Given the description of an element on the screen output the (x, y) to click on. 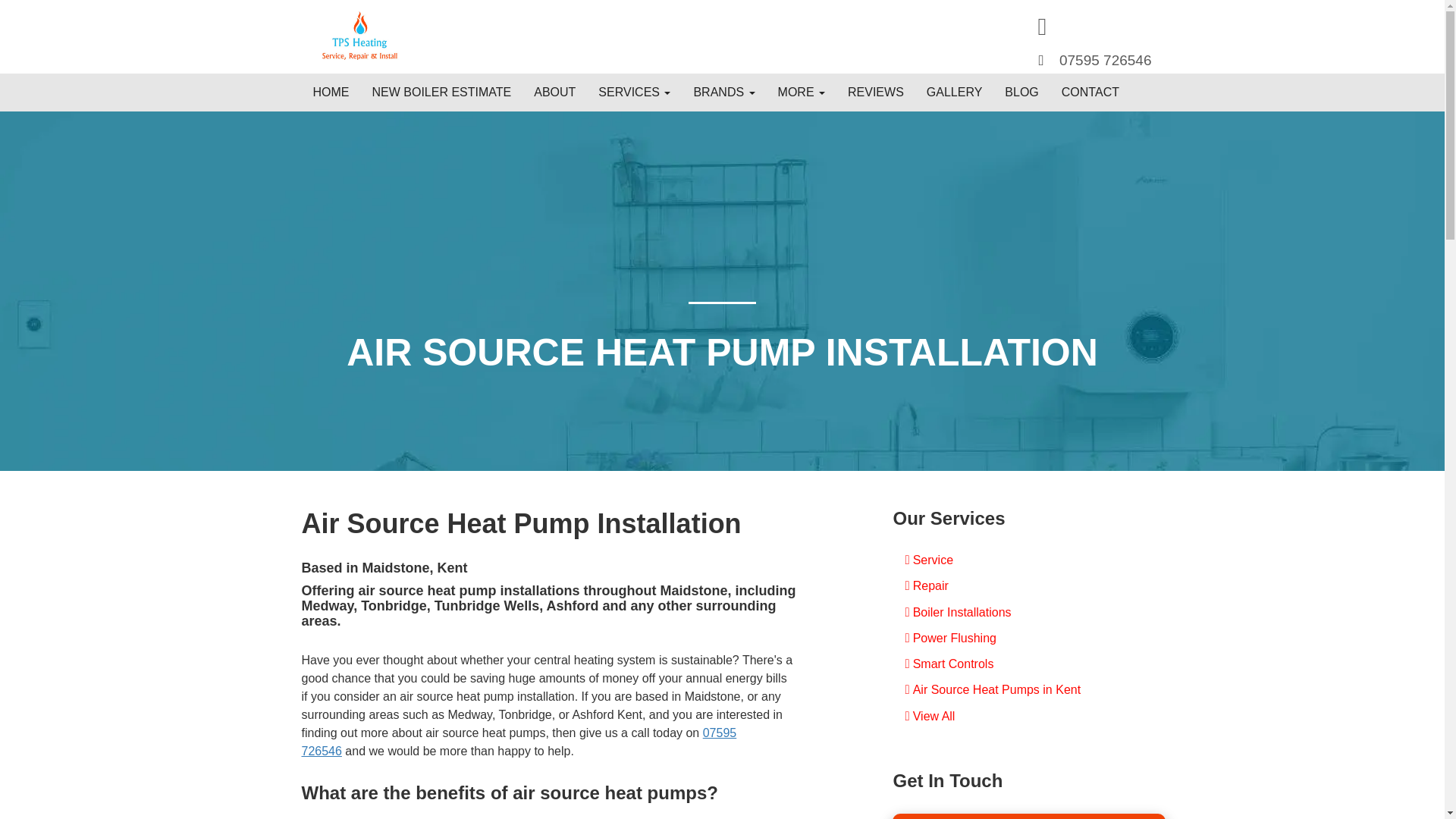
Air Source Heat Pumps in Kent (1028, 689)
BRANDS (723, 92)
07595 726546 (1105, 59)
View All (1028, 716)
HOME (331, 92)
Repair (1028, 586)
Service (1028, 560)
NEW BOILER ESTIMATE (441, 92)
Power Flushing (1028, 638)
SERVICES (633, 92)
